Given the description of an element on the screen output the (x, y) to click on. 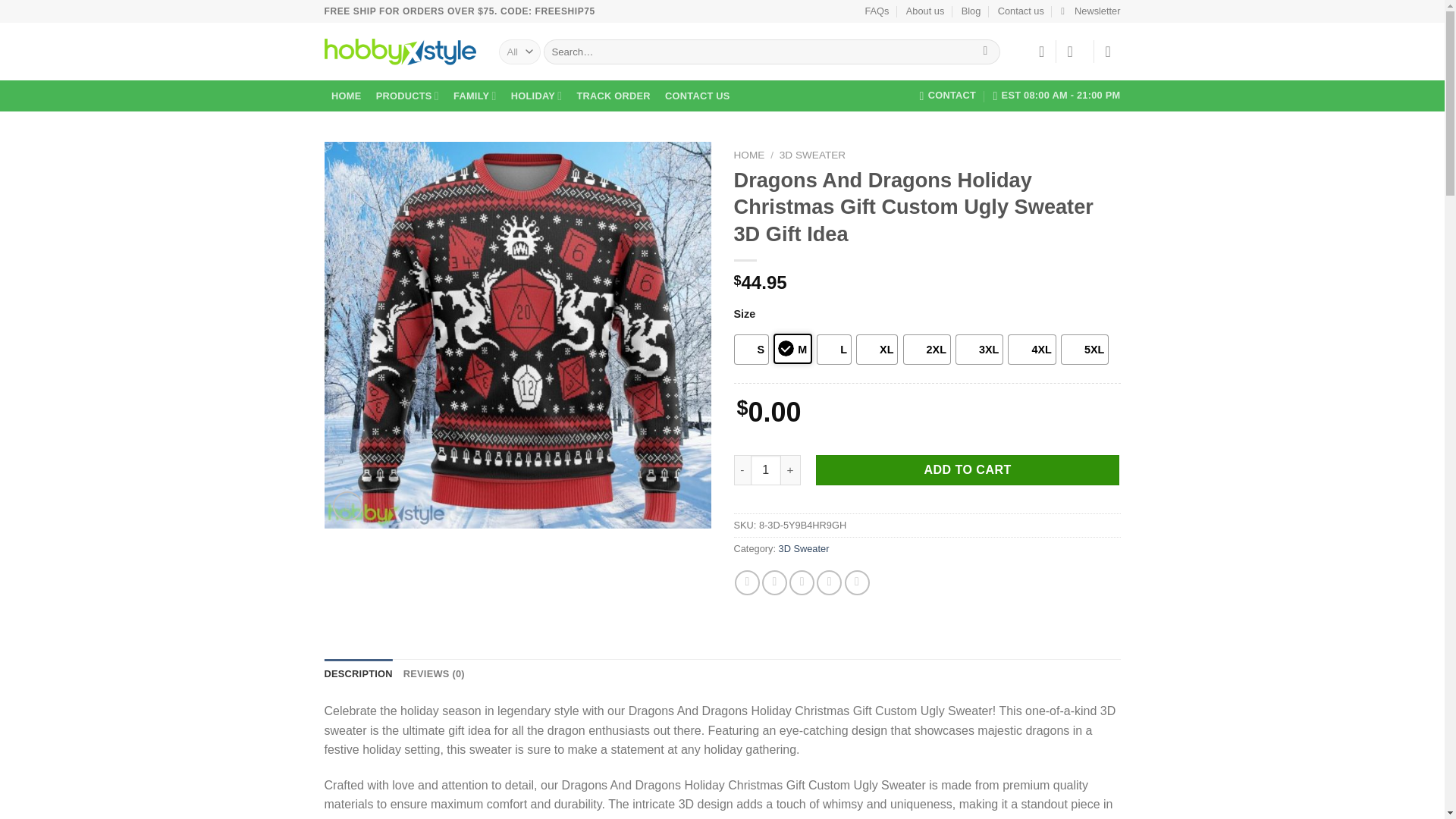
FAQs (876, 11)
L (833, 349)
HOME (346, 96)
Sign up for Newsletter (1090, 11)
Hobbyxstyle.com (400, 52)
S (751, 349)
Search (984, 52)
1 (765, 470)
Zoom (347, 505)
XL (877, 349)
Newsletter (1090, 11)
FAMILY (474, 96)
Contact us (1020, 11)
About us (924, 11)
